Given the description of an element on the screen output the (x, y) to click on. 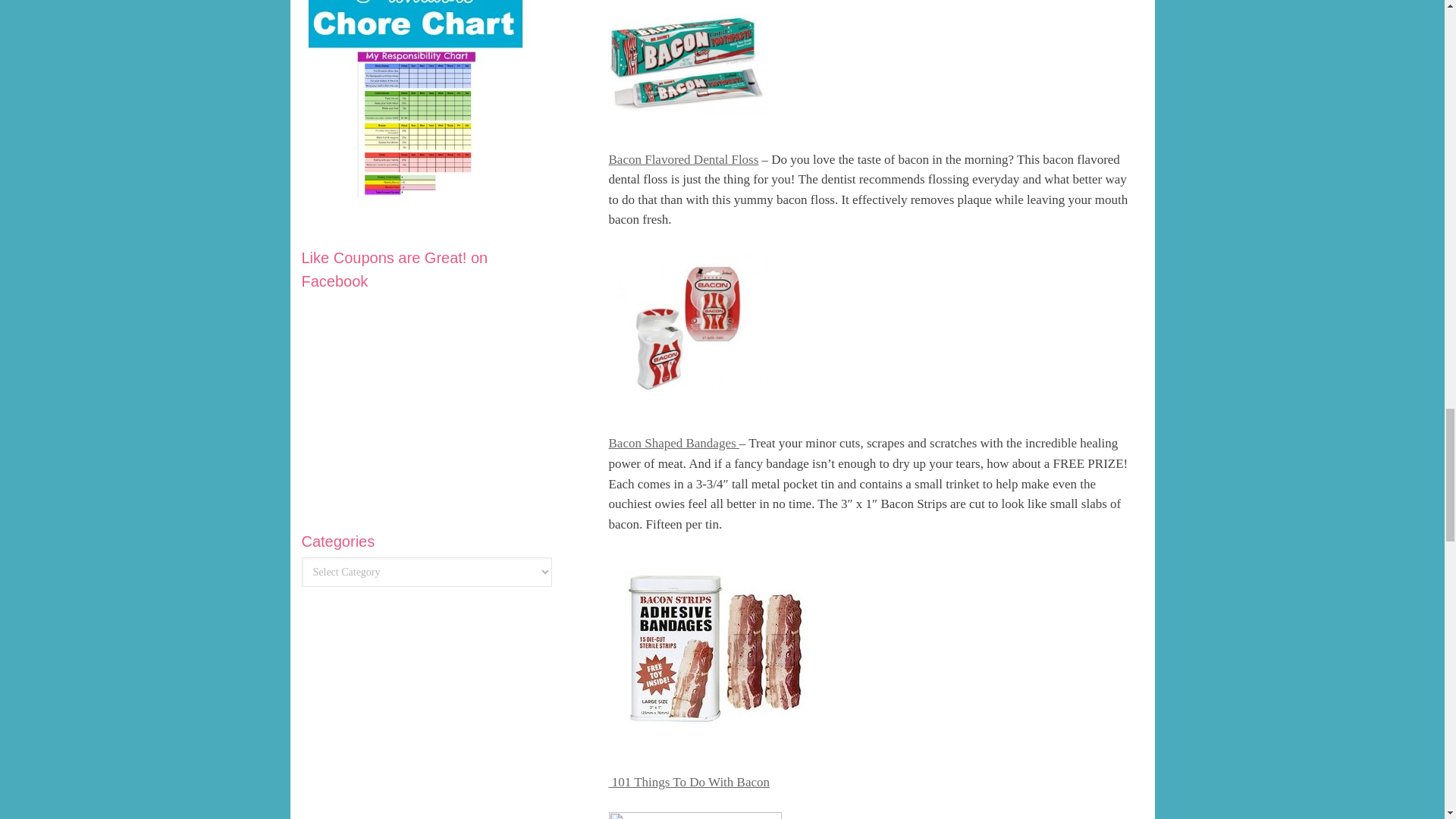
Bacon Flavored Dental Floss (683, 159)
bacon-floss (687, 324)
bacon-flavored-toothpaste (687, 63)
 101 Things To Do With Bacon (689, 781)
Bacon Shaped Bandages  (673, 442)
